Given the description of an element on the screen output the (x, y) to click on. 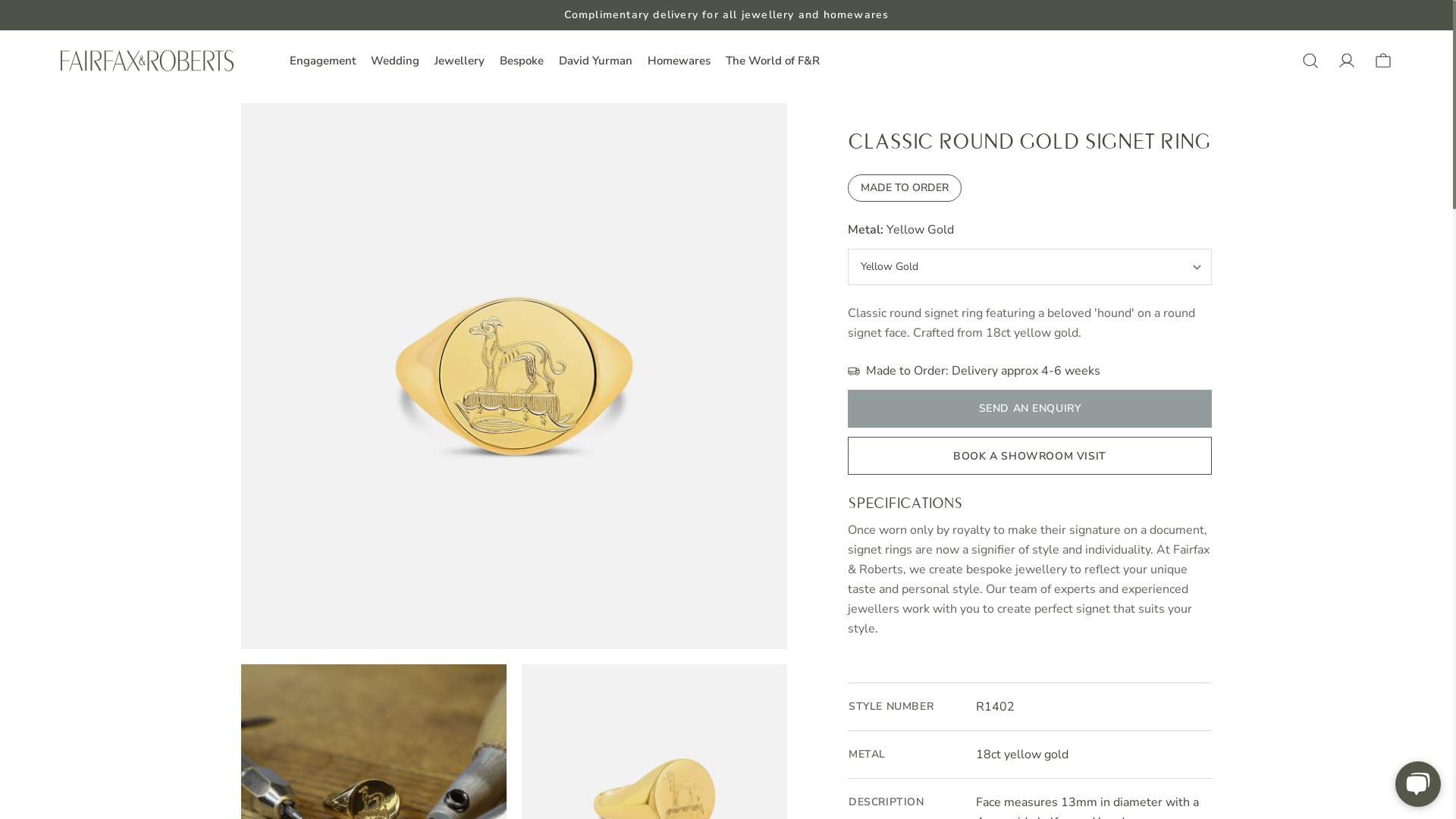
Jewellery Element type: text (459, 60)
The World of F&R Element type: text (772, 60)
BOOK A SHOWROOM VISIT Element type: text (1029, 455)
Account Dashboard Element type: hover (1346, 60)
Fairfax & Roberts Element type: hover (146, 60)
Engagement Element type: text (322, 60)
Homewares Element type: text (678, 60)
David Yurman Element type: text (595, 60)
SEND AN ENQUIRY Element type: text (1029, 408)
Complimentary delivery for all jewellery and homewares Element type: text (726, 14)
Wedding Element type: text (394, 60)
Bespoke Element type: text (521, 60)
